Given the description of an element on the screen output the (x, y) to click on. 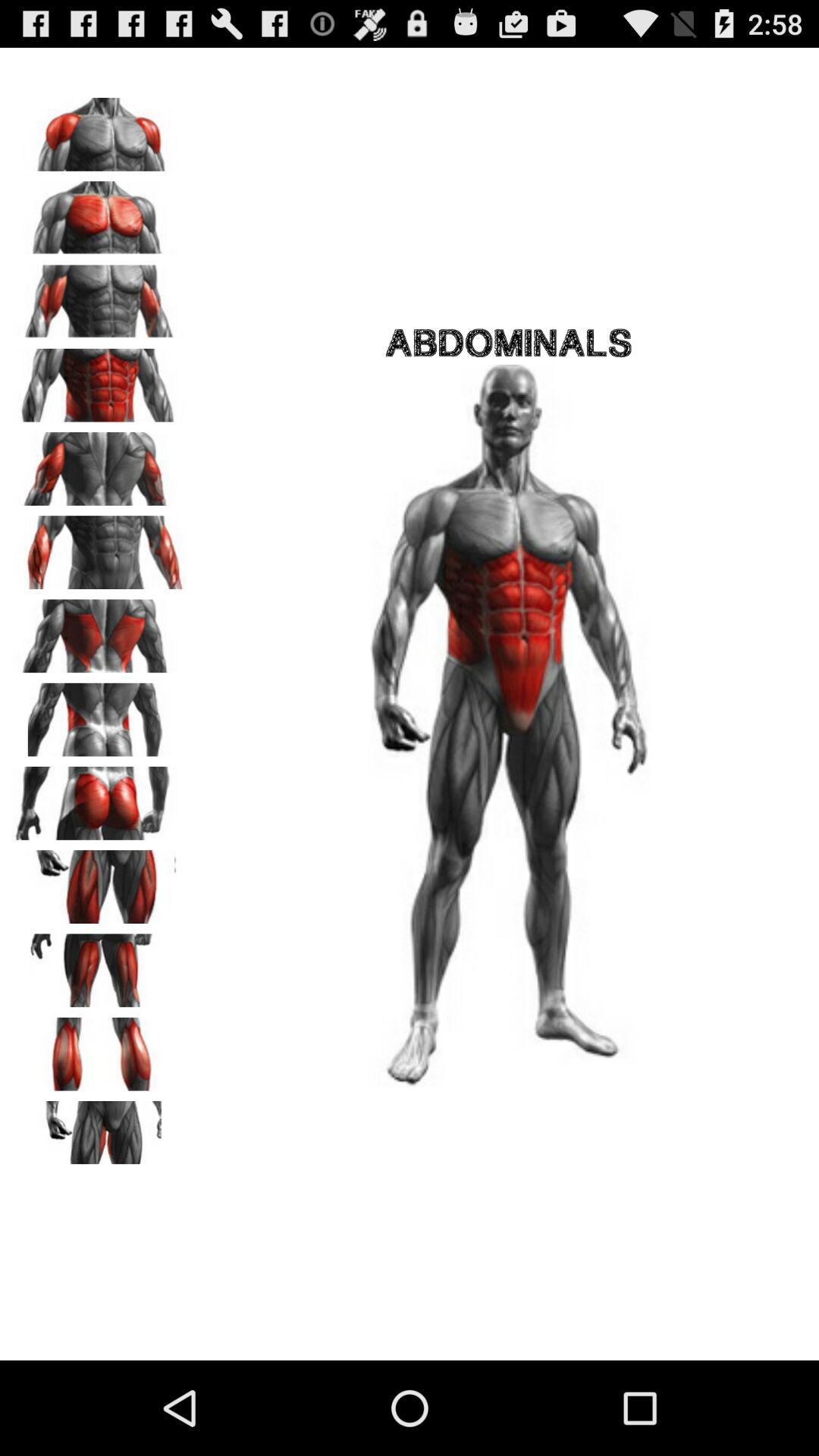
arms (99, 129)
